Given the description of an element on the screen output the (x, y) to click on. 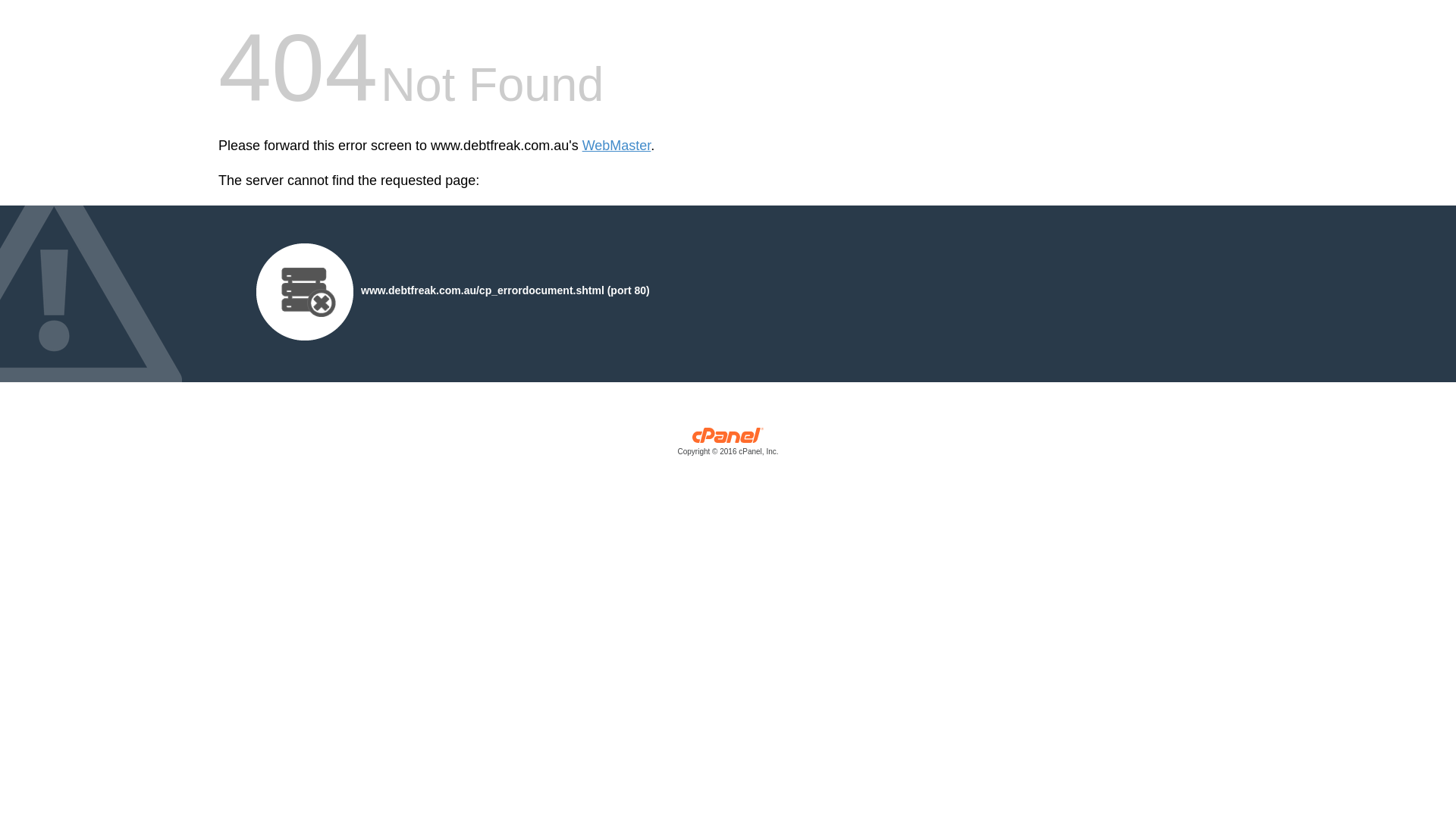
WebMaster Element type: text (616, 145)
